Given the description of an element on the screen output the (x, y) to click on. 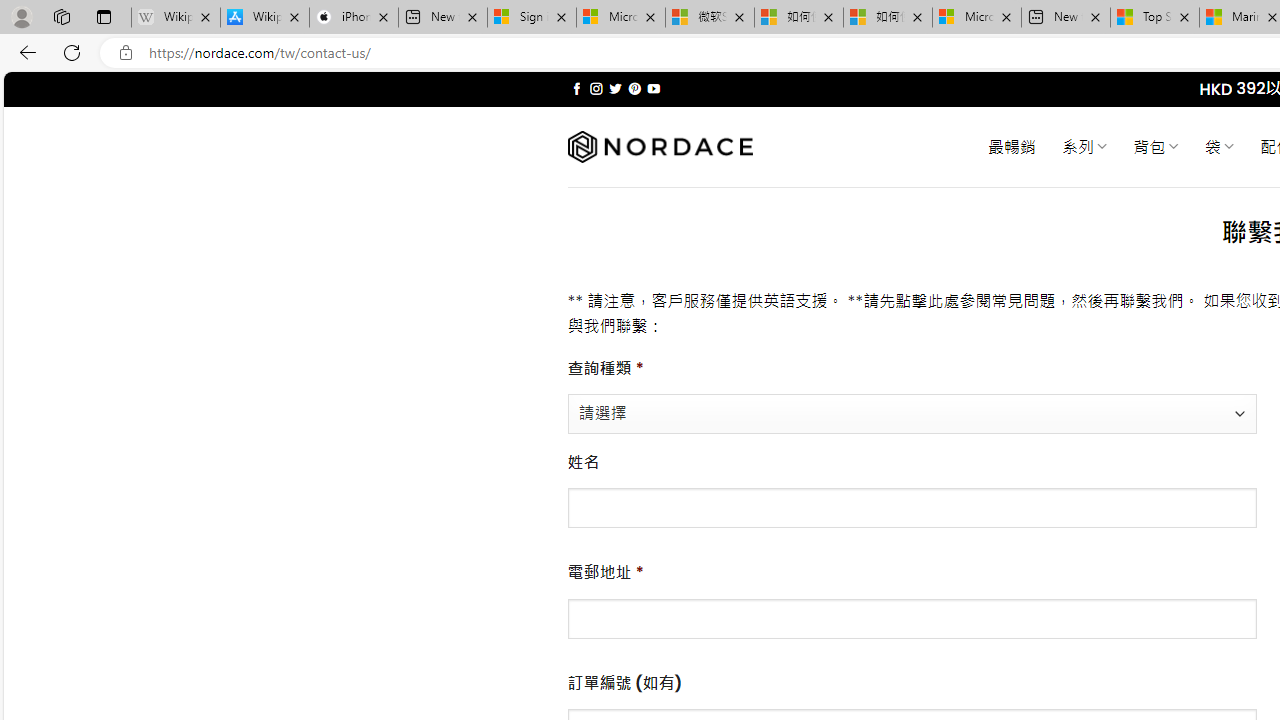
Sign in to your Microsoft account (531, 17)
Microsoft Services Agreement (621, 17)
iPhone - Apple (353, 17)
Follow on YouTube (653, 88)
Follow on Pinterest (634, 88)
